Given the description of an element on the screen output the (x, y) to click on. 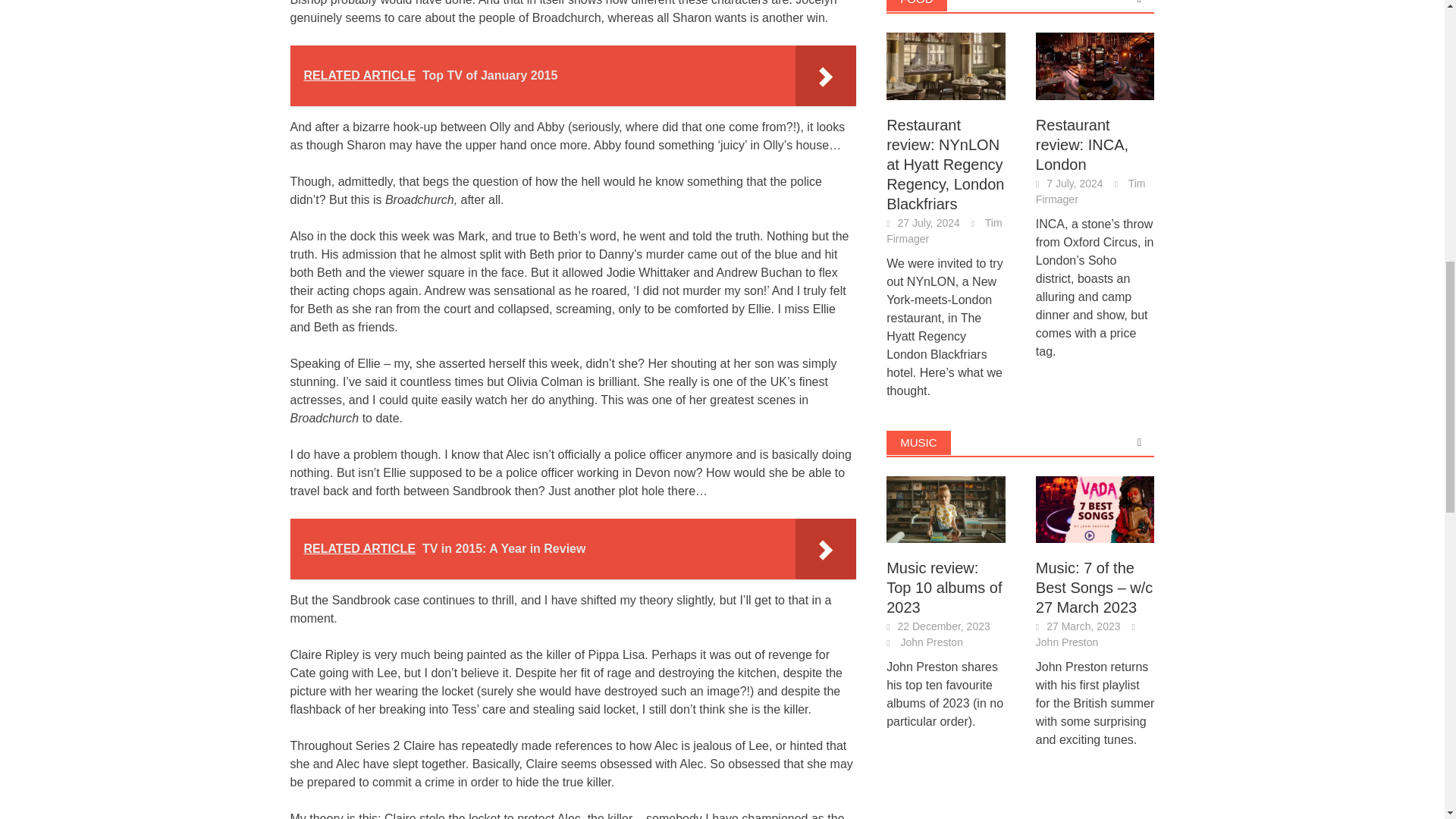
Restaurant review: INCA, London (1094, 65)
Restaurant review: INCA, London (1094, 64)
